Given the description of an element on the screen output the (x, y) to click on. 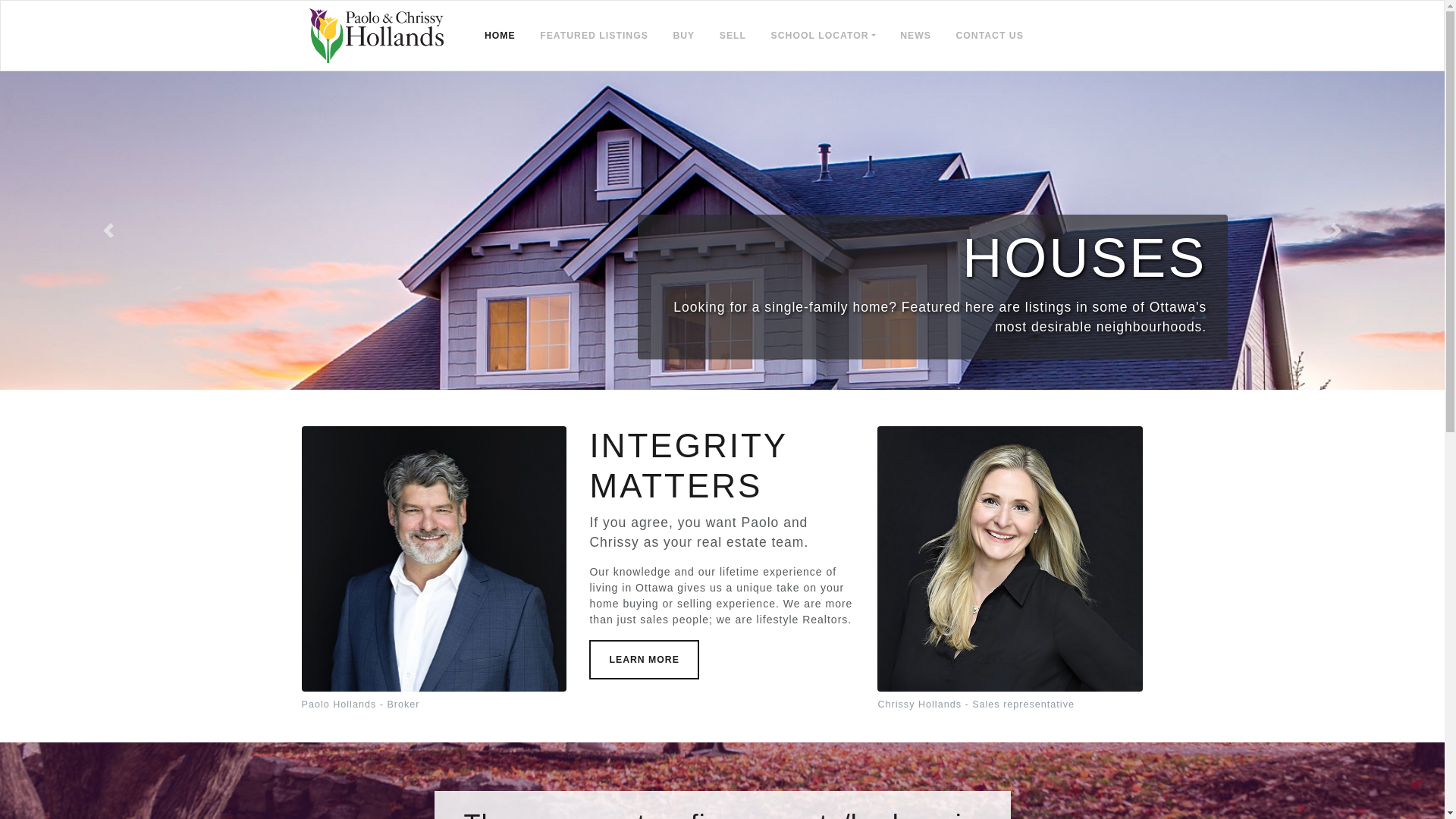
LEARN MORE (643, 659)
NEWS (915, 34)
FEATURED LISTINGS (594, 34)
SELL (732, 34)
SCHOOL LOCATOR (823, 34)
CONTACT US (989, 34)
